Given the description of an element on the screen output the (x, y) to click on. 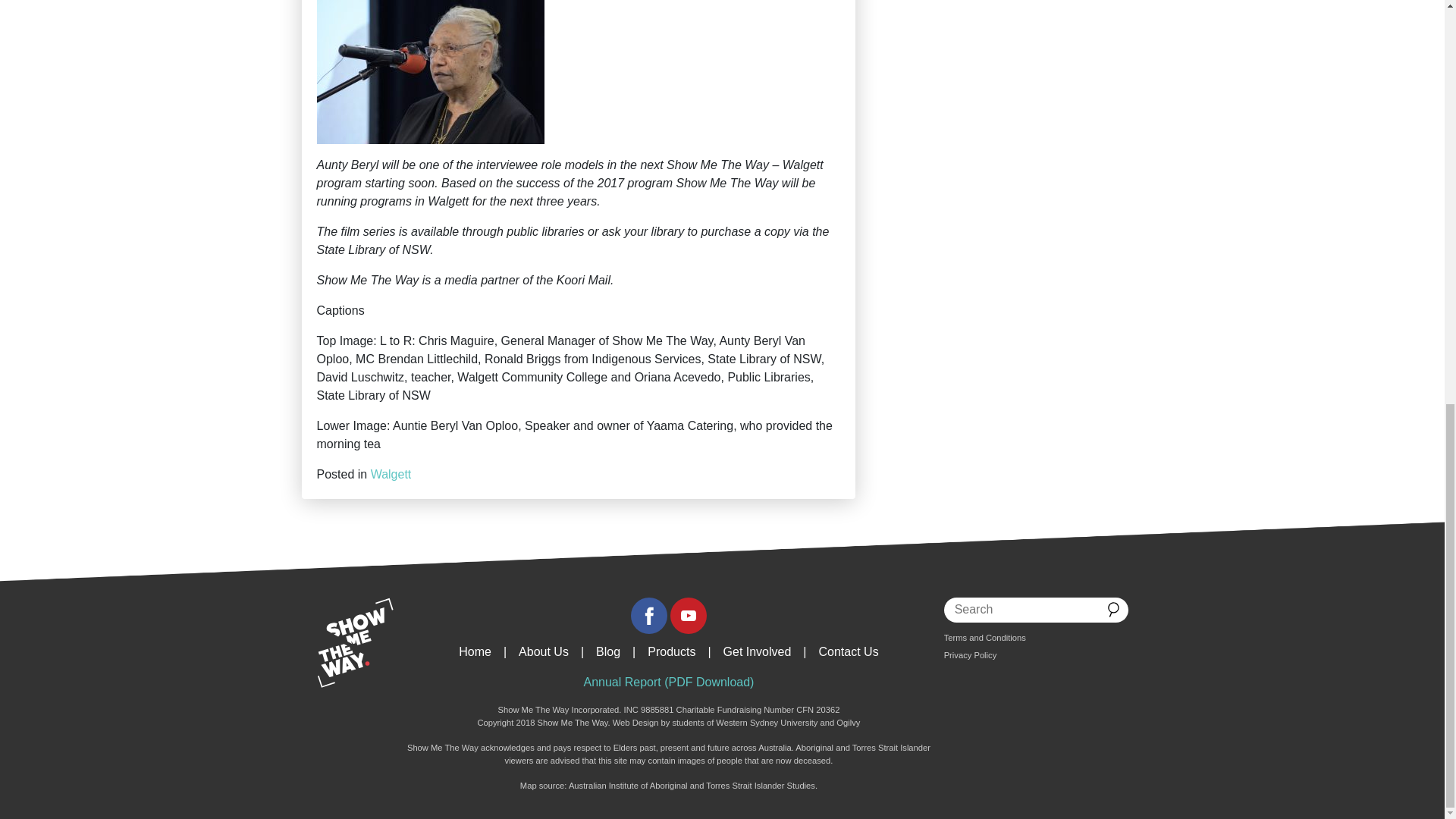
Get Involved (757, 651)
Contact Us (848, 651)
Privacy Policy (970, 655)
Blog (607, 651)
About Us (543, 651)
Home (475, 651)
Products (671, 651)
Walgett (391, 473)
Terms and Conditions (984, 637)
